Given the description of an element on the screen output the (x, y) to click on. 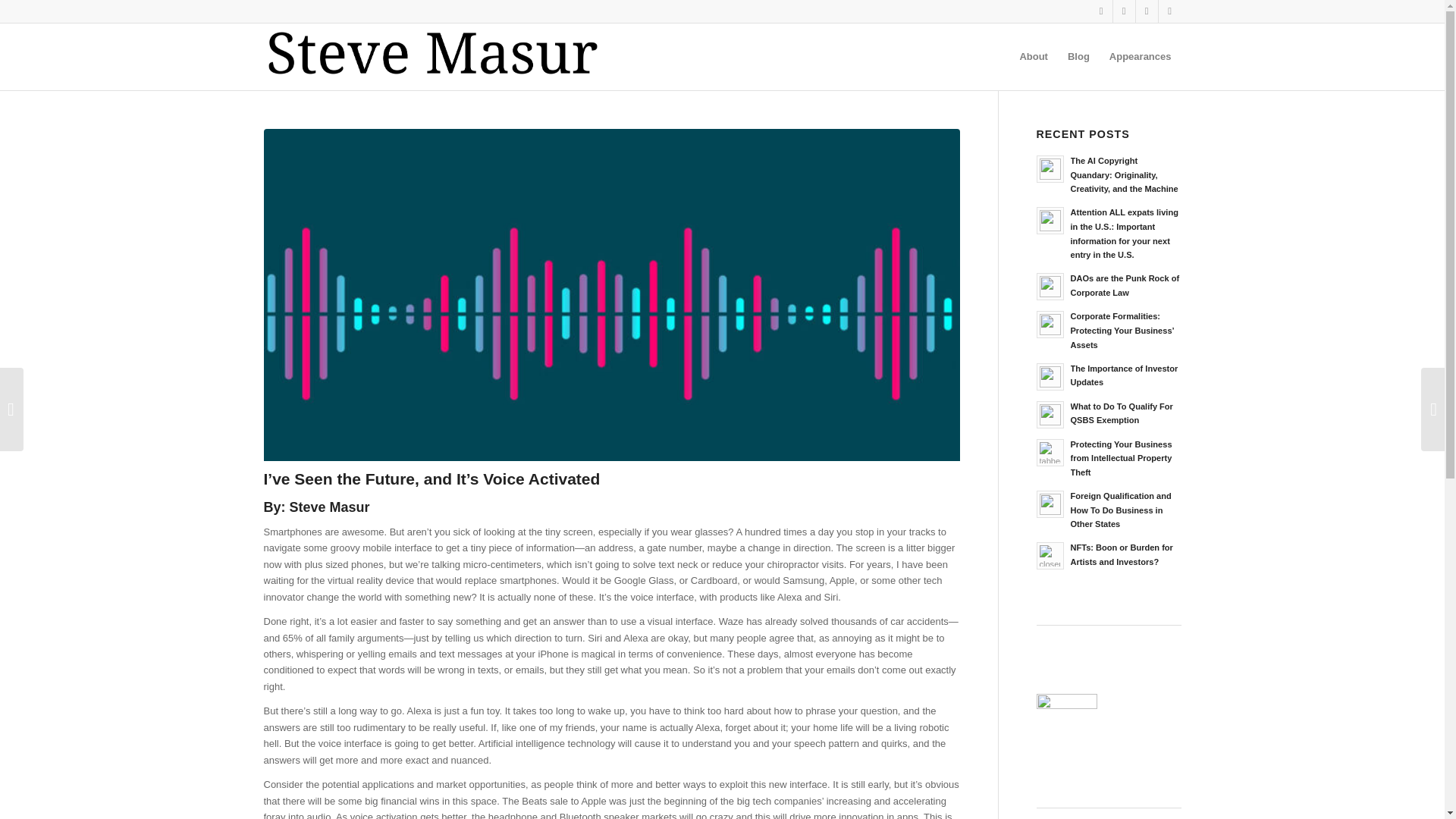
Appearances (1139, 56)
DAOs are the Punk Rock of Corporate Law (1124, 285)
Telegram (1146, 11)
What to Do To Qualify For QSBS Exemption (1121, 413)
Protecting Your Business from Intellectual Property Theft (1121, 458)
Mail (1169, 11)
LinkedIn (1124, 11)
NFTs: Boon or Burden for Artists and Investors? (1121, 554)
